Given the description of an element on the screen output the (x, y) to click on. 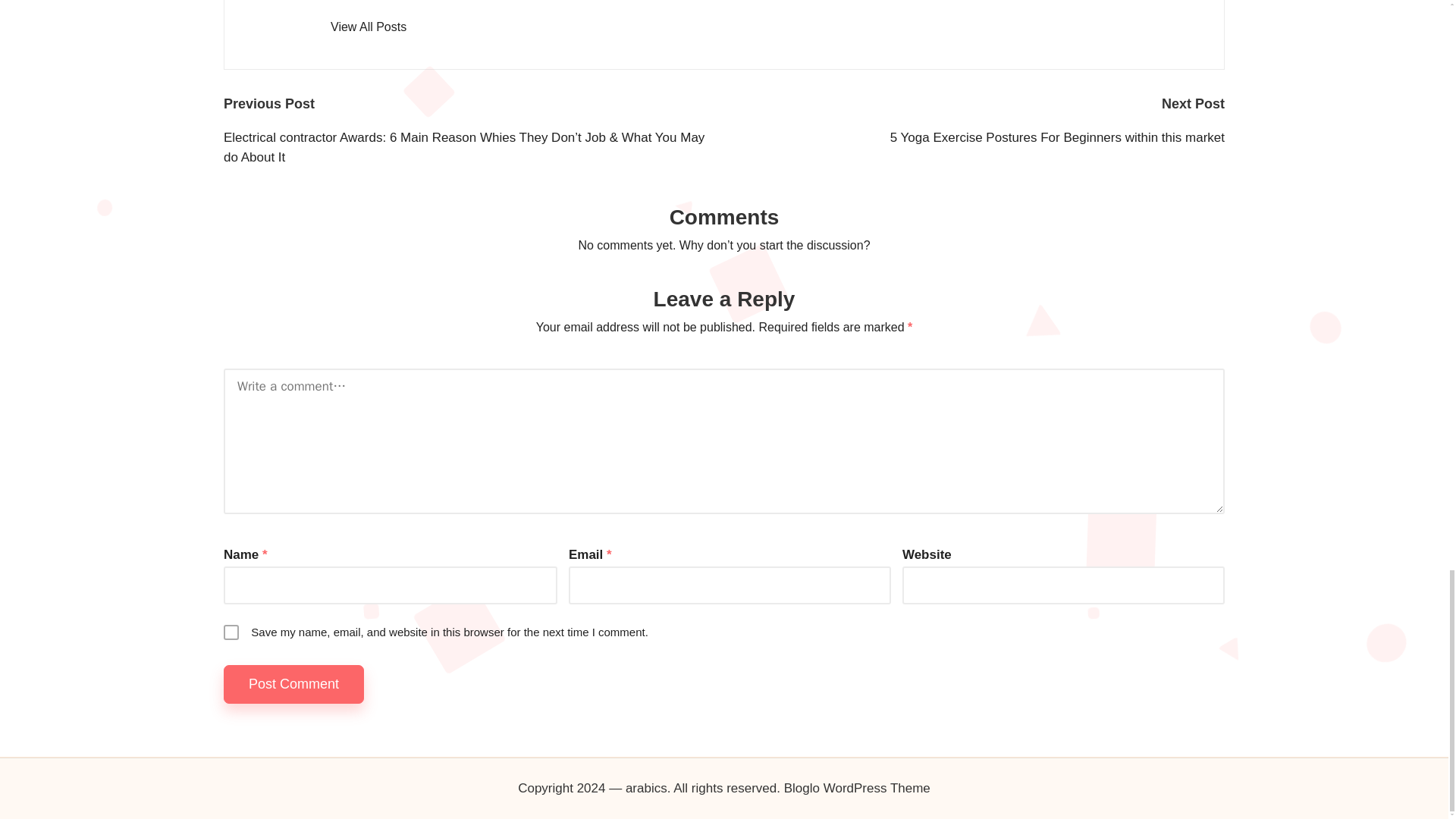
View All Posts (368, 27)
admin (357, 1)
Bloglo WordPress Theme (857, 788)
5 Yoga Exercise Postures For Beginners within this market (973, 137)
Post Comment (294, 684)
yes (231, 631)
Post Comment (294, 684)
